Given the description of an element on the screen output the (x, y) to click on. 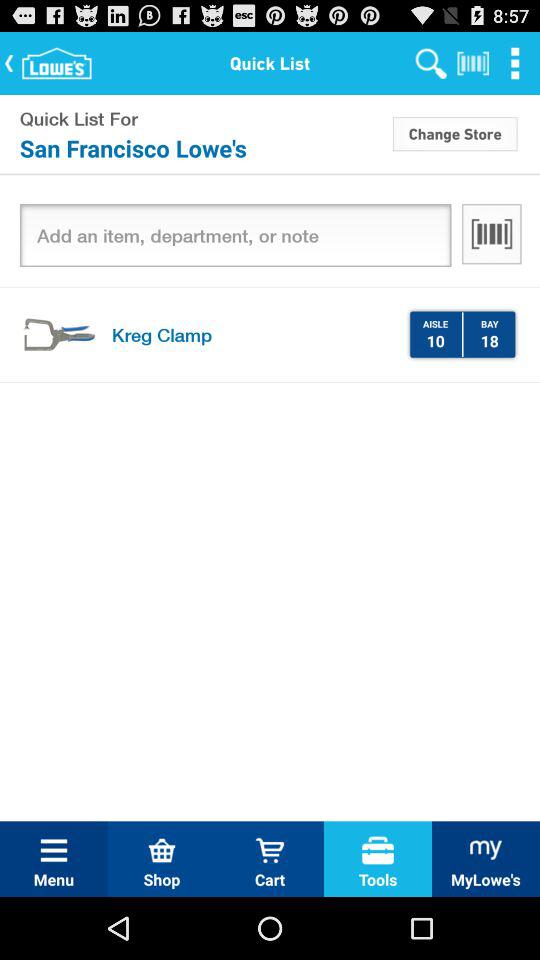
select change store button which is at right side of the page (454, 133)
